Given the description of an element on the screen output the (x, y) to click on. 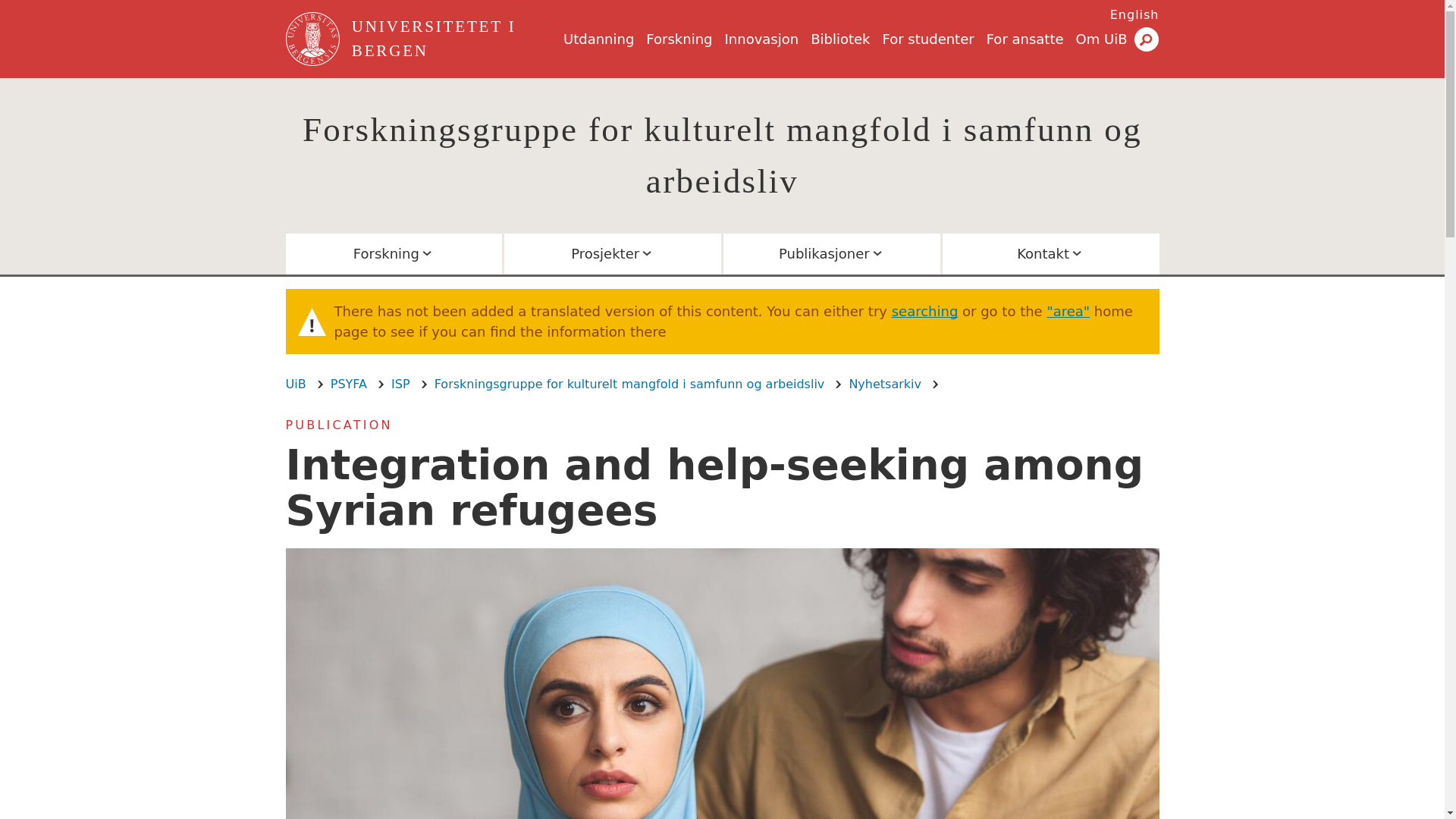
Utdanning (598, 38)
For ansatte (1025, 38)
Forskning (678, 38)
UNIVERSITETET I BERGEN (454, 39)
Innovasjon (762, 38)
English (1133, 14)
Om UiB (1100, 38)
For studenter (928, 38)
Hjem (313, 39)
